Given the description of an element on the screen output the (x, y) to click on. 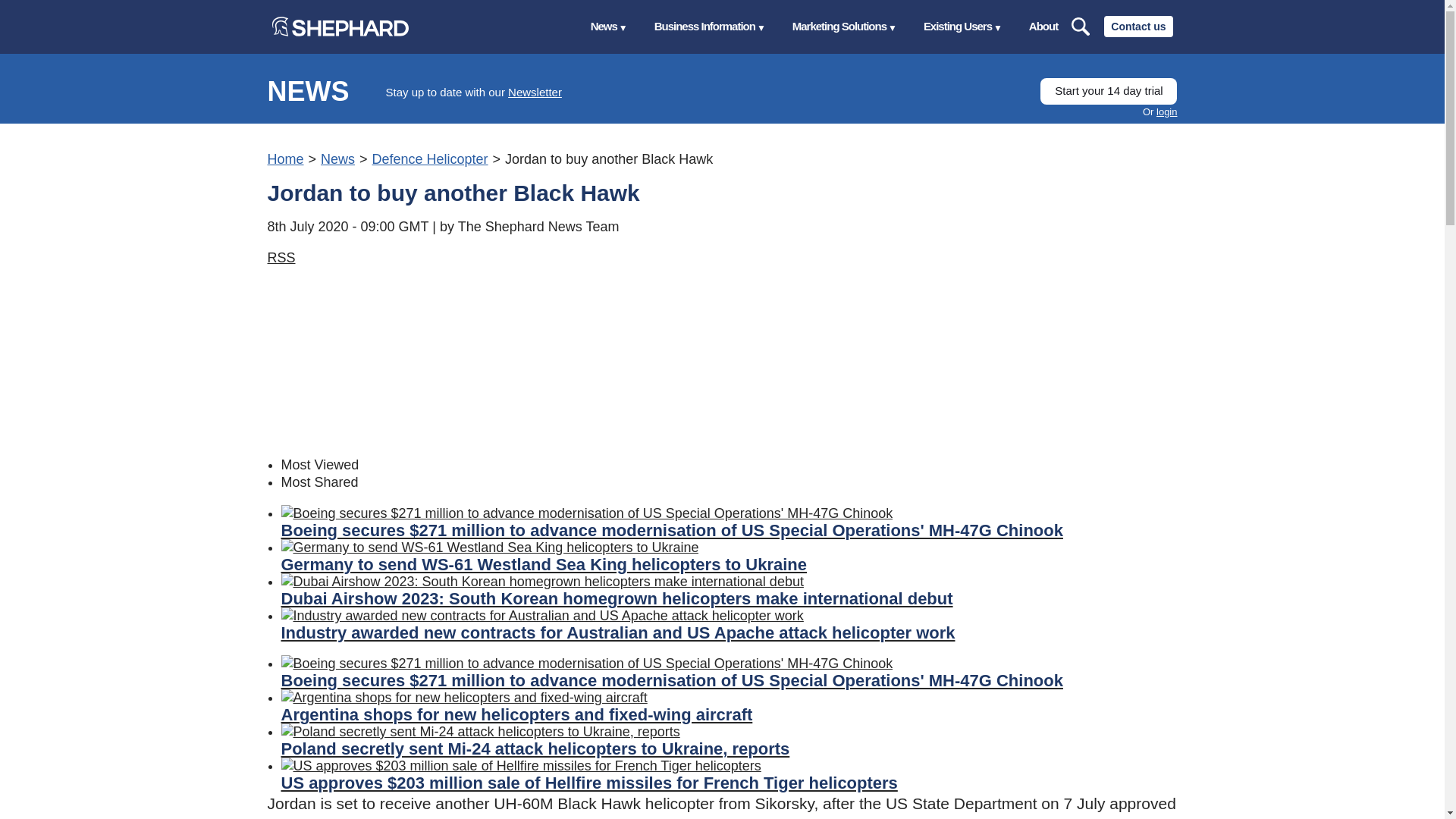
Defence Helicopter RSS Feed (280, 257)
login (1166, 111)
Newsletter (535, 91)
Start a trial subscription (1108, 90)
About (1042, 27)
3rd party ad content (380, 361)
Contact us (1137, 25)
Defence Helicopter (429, 159)
Login (1166, 111)
Start your 14 day trial (1108, 90)
